Given the description of an element on the screen output the (x, y) to click on. 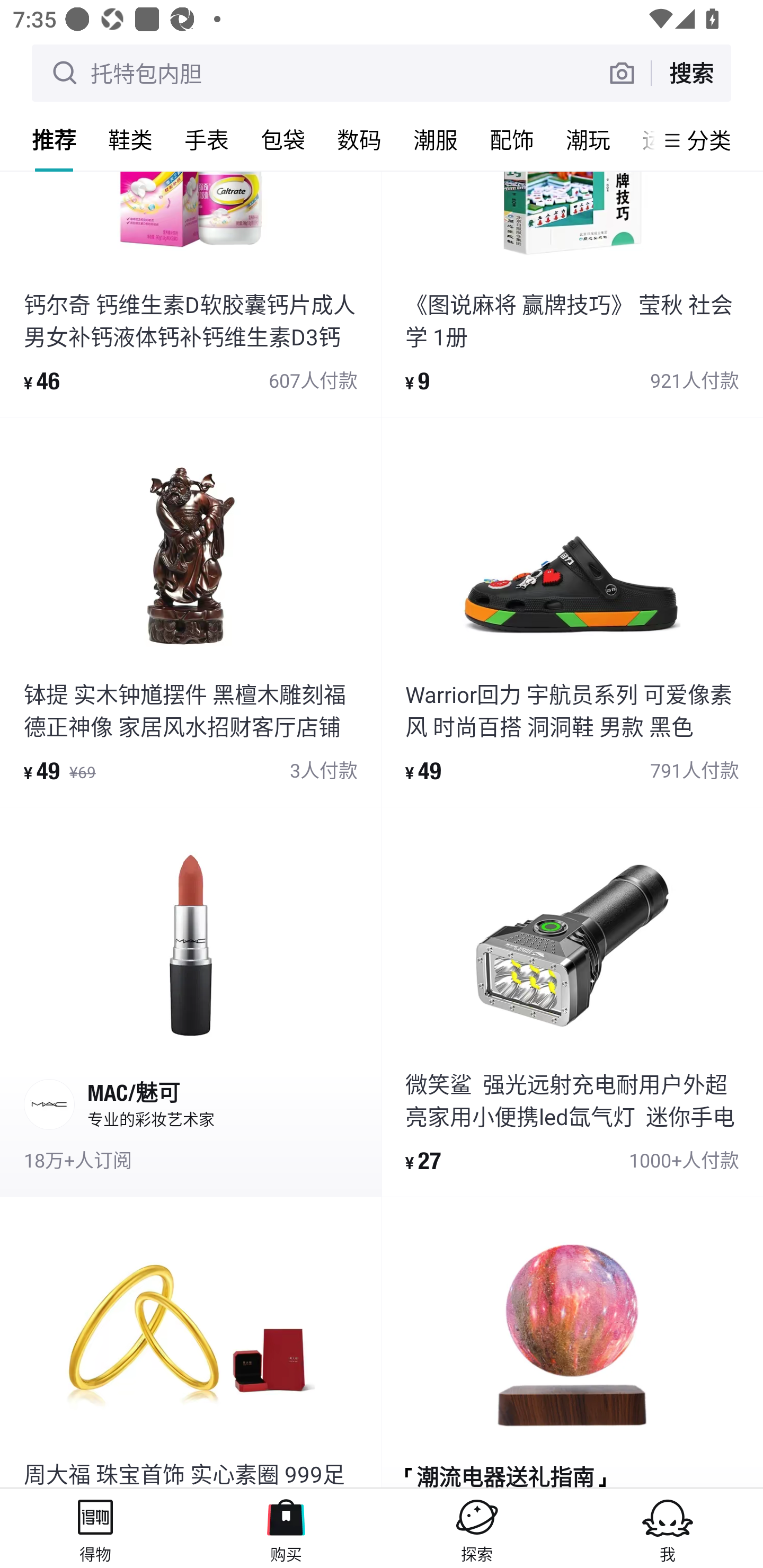
搜索 (690, 72)
推荐 (54, 139)
鞋类 (130, 139)
手表 (206, 139)
包袋 (282, 139)
数码 (359, 139)
潮服 (435, 139)
配饰 (511, 139)
潮玩 (588, 139)
分类 (708, 139)
product_item 《图说麻将 赢牌技巧》 莹秋 社会
学 1册 ¥ 9 921人付款 (572, 293)
MAC/魅可 专业的彩妆艺术家 18万+人订阅 (190, 1001)
潮流电器送礼指南 (572, 1342)
得物 (95, 1528)
购买 (285, 1528)
探索 (476, 1528)
我 (667, 1528)
